Given the description of an element on the screen output the (x, y) to click on. 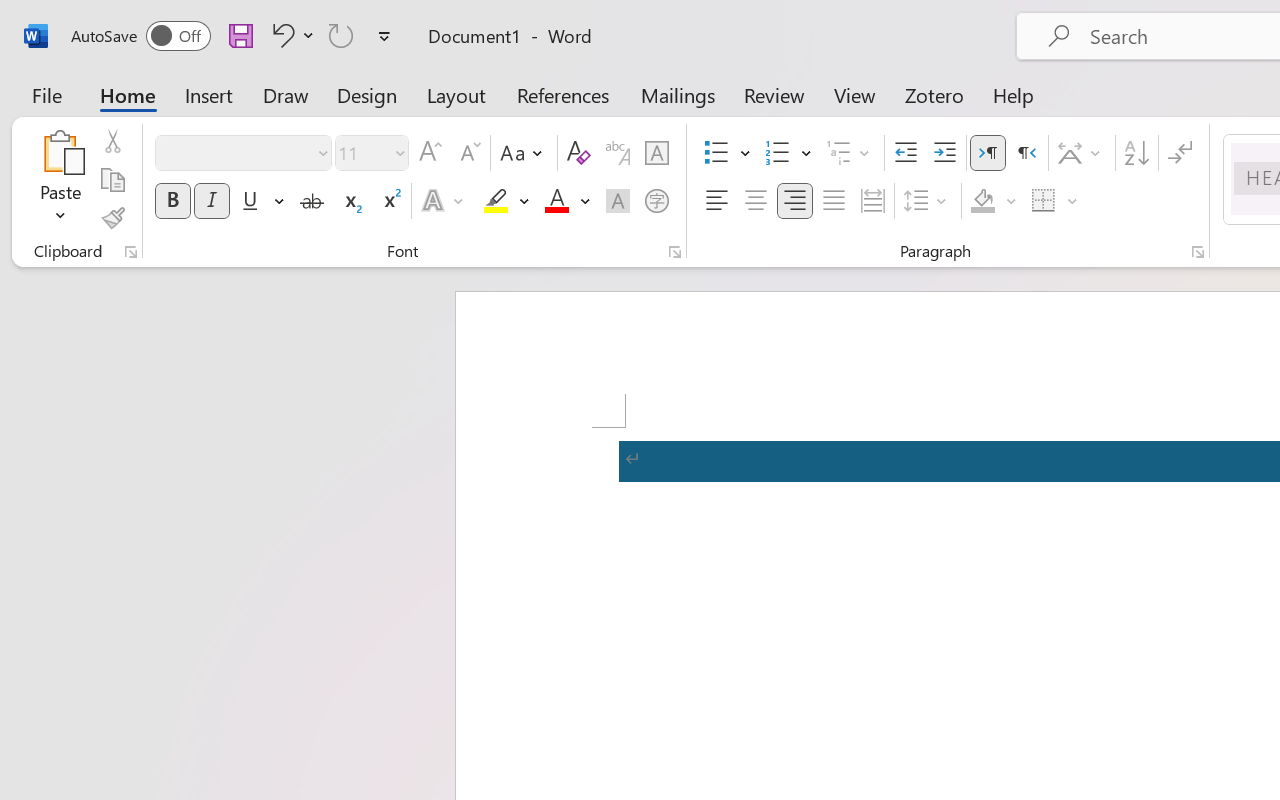
Undo (290, 35)
